Given the description of an element on the screen output the (x, y) to click on. 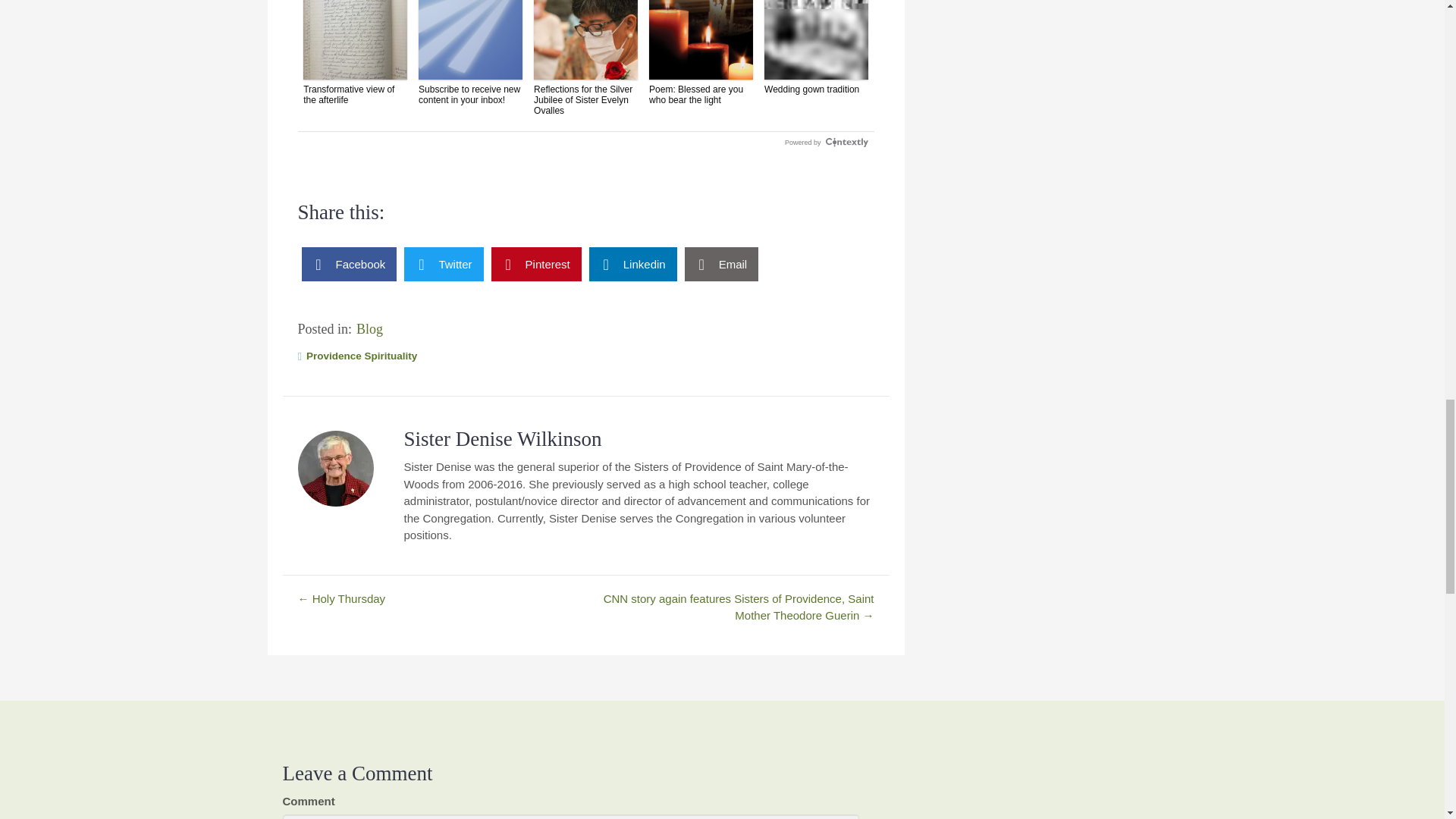
Poem: Blessed are you who bear the light (700, 52)
Reflections for the Silver Jubilee of Sister Evelyn Ovalles (585, 58)
Transformative view of the afterlife (354, 52)
Subscribe to receive new content in your inbox! (470, 52)
Wedding gown tradition (815, 47)
